Given the description of an element on the screen output the (x, y) to click on. 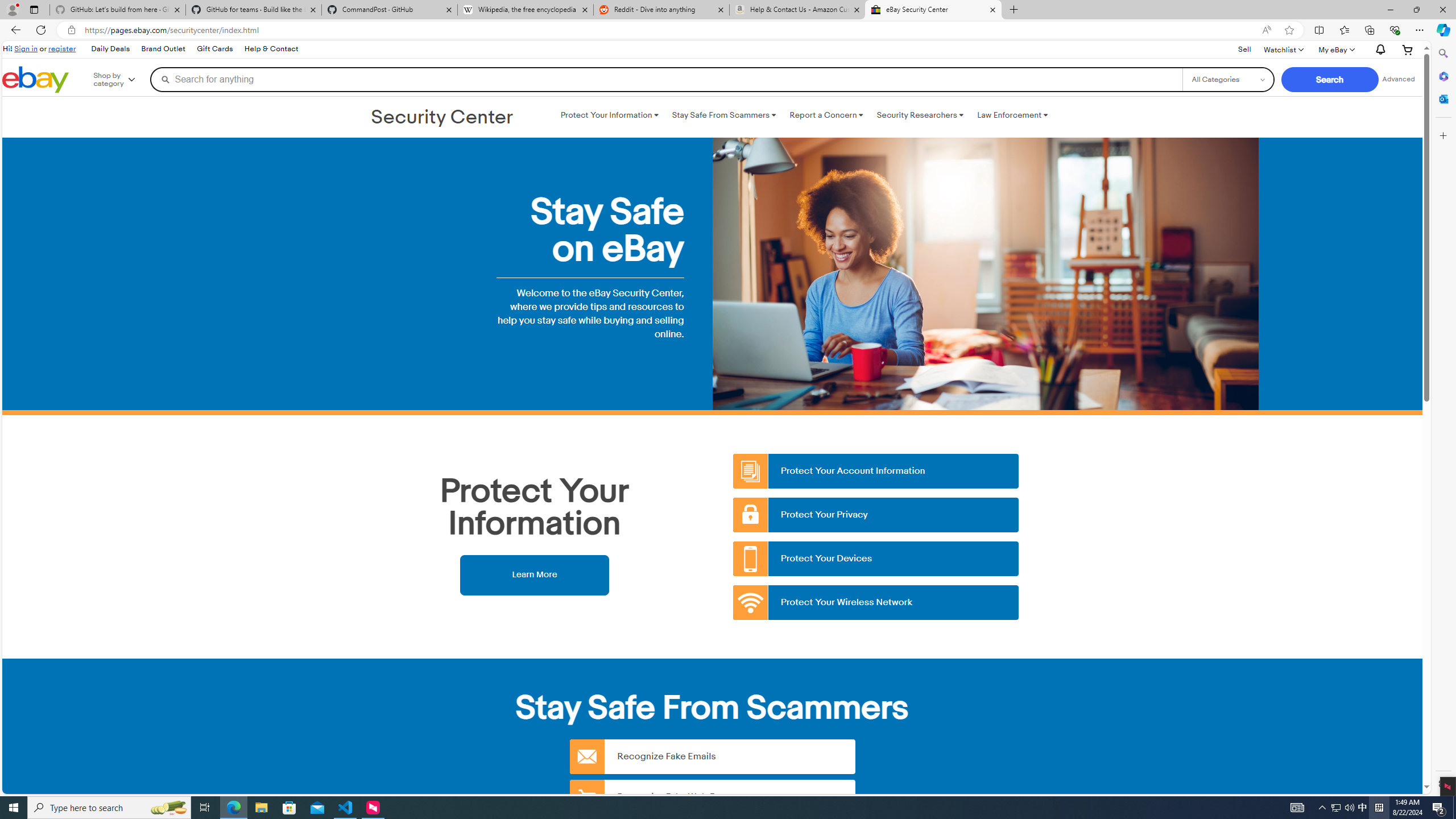
Daily Deals (109, 49)
Security Center (442, 117)
Select a category for search (1228, 78)
Wikipedia, the free encyclopedia (525, 9)
eBay Home (35, 79)
Reddit - Dive into anything (660, 9)
Protect Your Information  (608, 115)
register (61, 48)
Shop by category (122, 79)
